Given the description of an element on the screen output the (x, y) to click on. 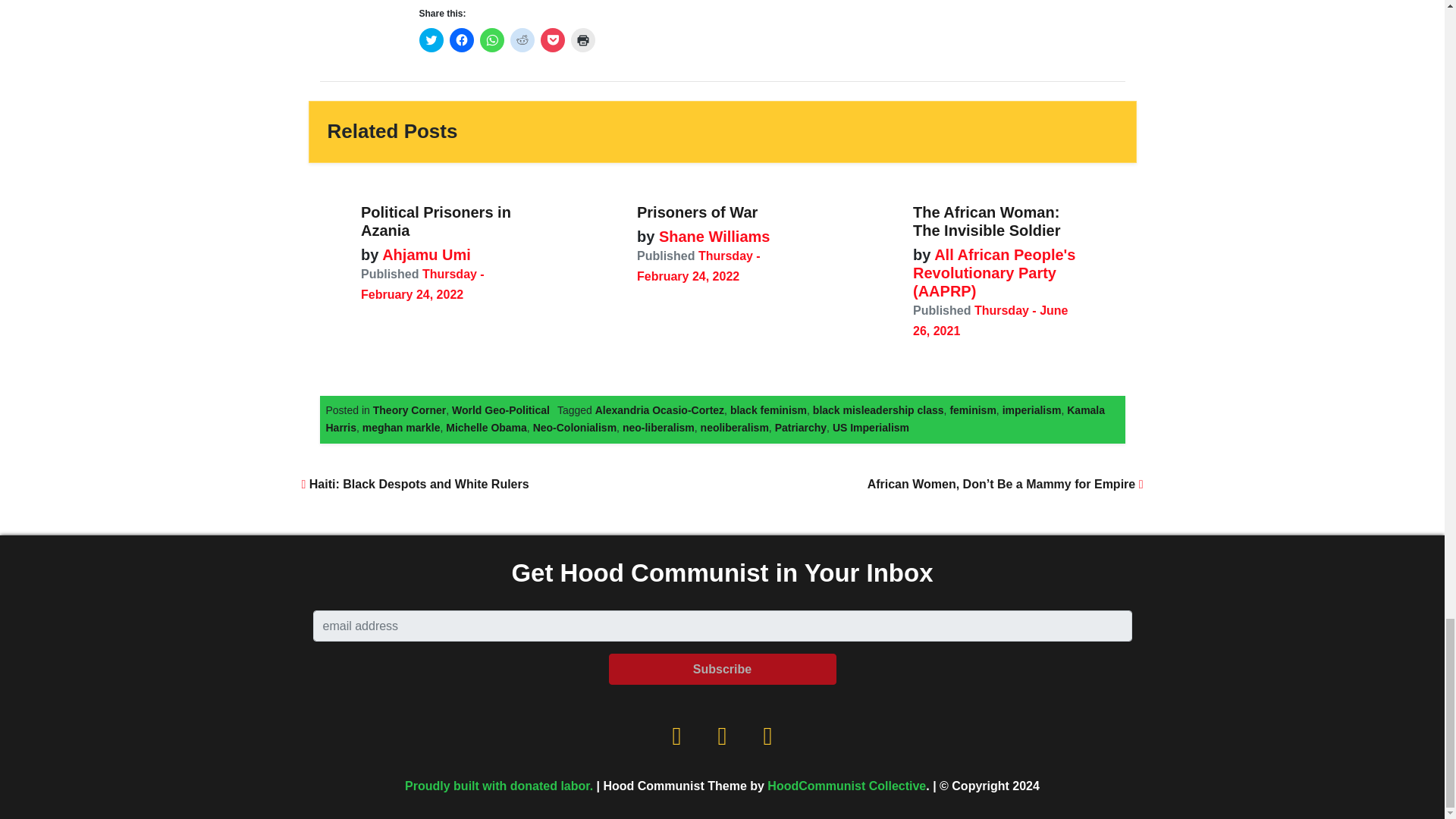
World Geo-Political (500, 410)
Prisoners of War (697, 211)
Shane Williams (711, 236)
Political Prisoners in Azania (436, 221)
Click to share on Twitter (430, 39)
Theory Corner (408, 410)
Thursday - February 24, 2022 (698, 265)
The African Woman: The Invisible Soldier (986, 221)
Thursday - June 26, 2021 (989, 320)
Subscribe (721, 668)
Thursday - February 24, 2022 (422, 284)
Ahjamu Umi (424, 254)
